Given the description of an element on the screen output the (x, y) to click on. 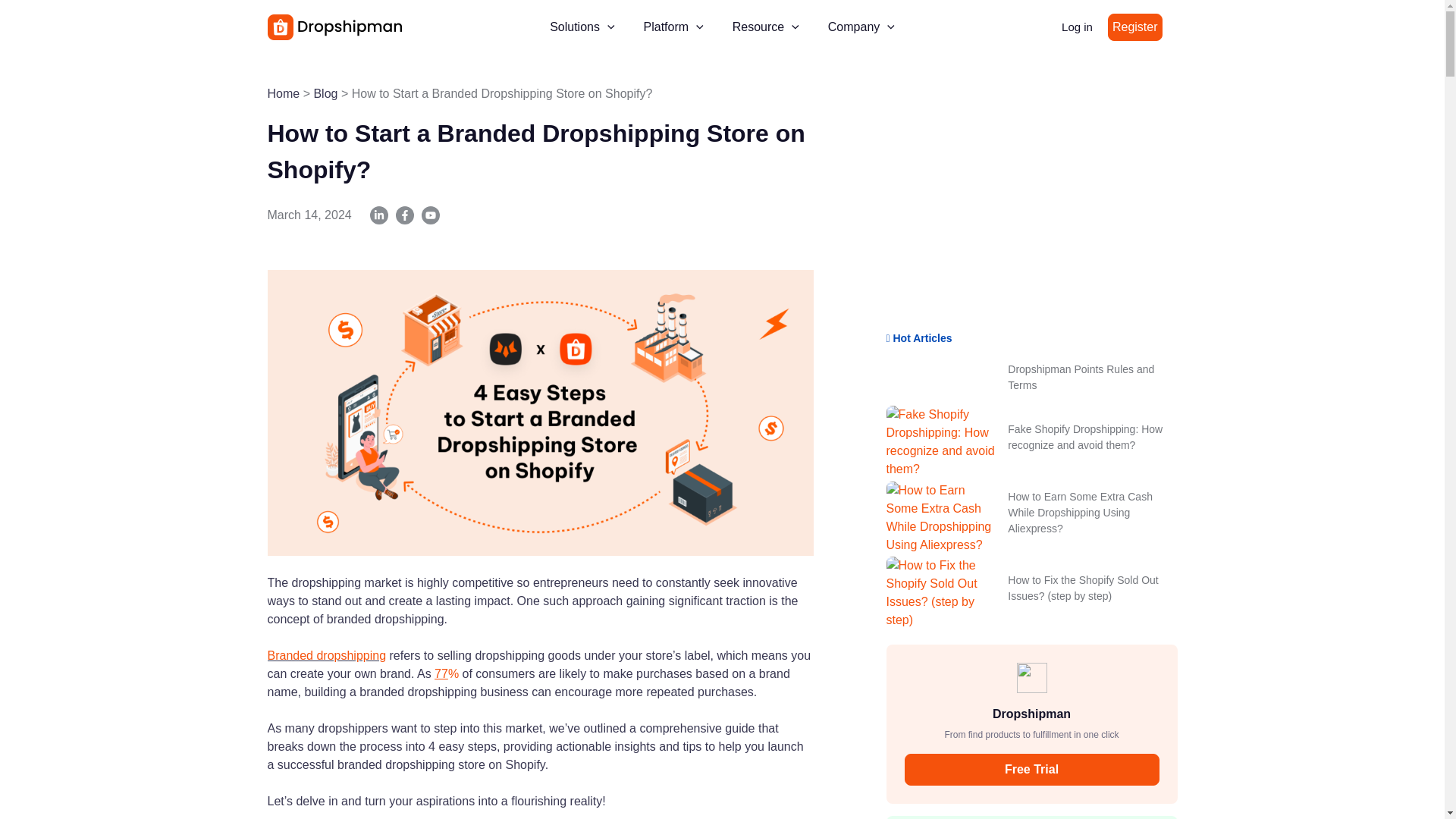
Resource (765, 27)
Solutions (581, 27)
Company (860, 27)
Platform (672, 27)
